Given the description of an element on the screen output the (x, y) to click on. 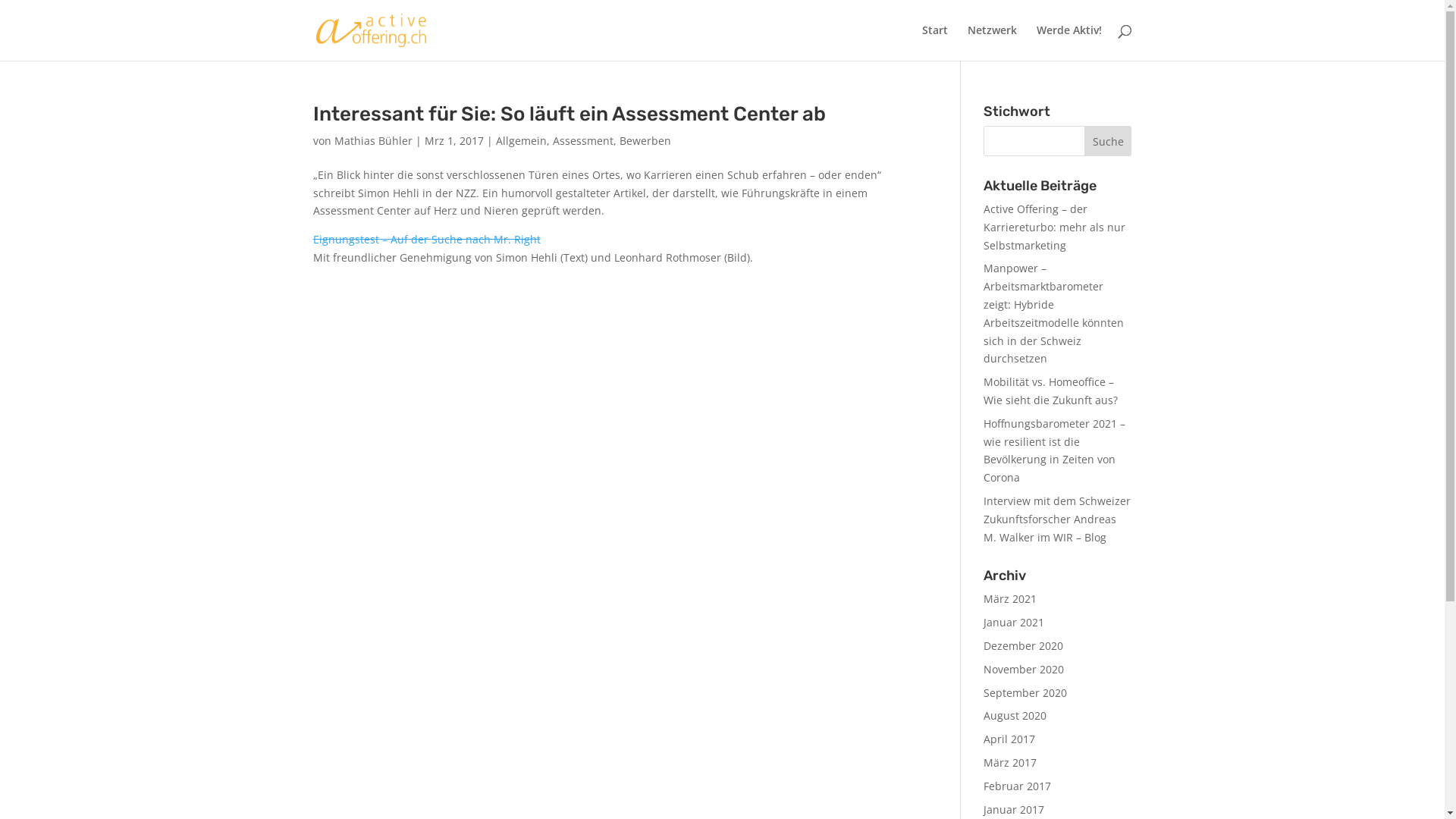
August 2020 Element type: text (1014, 715)
Januar 2021 Element type: text (1013, 622)
Werde Aktiv! Element type: text (1068, 42)
Februar 2017 Element type: text (1017, 785)
Januar 2017 Element type: text (1013, 809)
Netzwerk Element type: text (991, 42)
Allgemein Element type: text (520, 140)
April 2017 Element type: text (1009, 738)
Dezember 2020 Element type: text (1023, 645)
Bewerben Element type: text (644, 140)
Start Element type: text (934, 42)
Assessment Element type: text (582, 140)
November 2020 Element type: text (1023, 669)
Suche Element type: text (1108, 140)
September 2020 Element type: text (1024, 692)
